Given the description of an element on the screen output the (x, y) to click on. 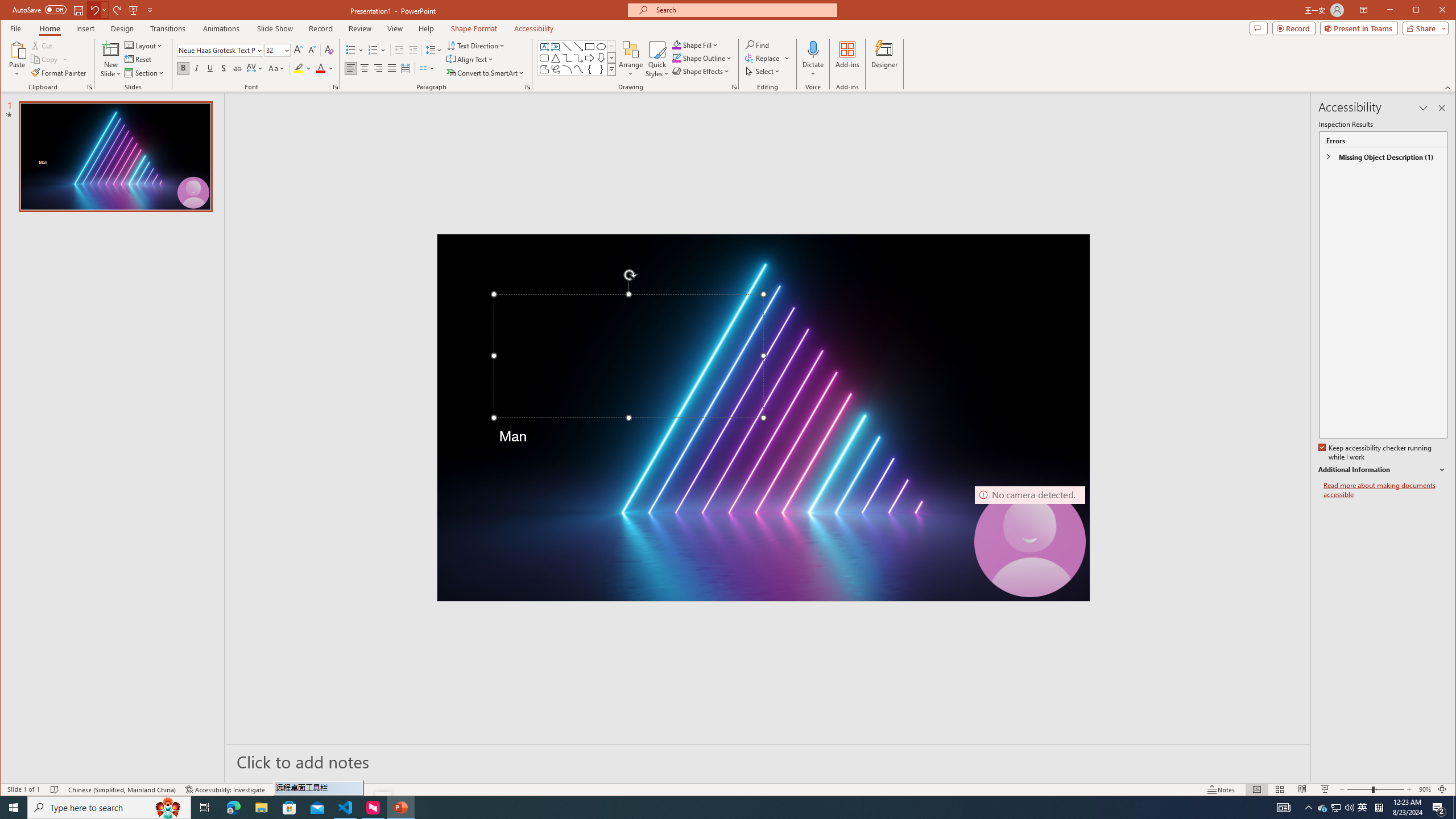
Microsoft search (742, 10)
Font (215, 50)
Rectangle (589, 46)
Numbering (373, 49)
Convert to SmartArt (485, 72)
Clear Formatting (328, 49)
Paragraph... (527, 86)
Row up (611, 46)
Columns (426, 68)
Oval (601, 46)
Read more about making documents accessible (1385, 489)
Slide Notes (767, 761)
